Given the description of an element on the screen output the (x, y) to click on. 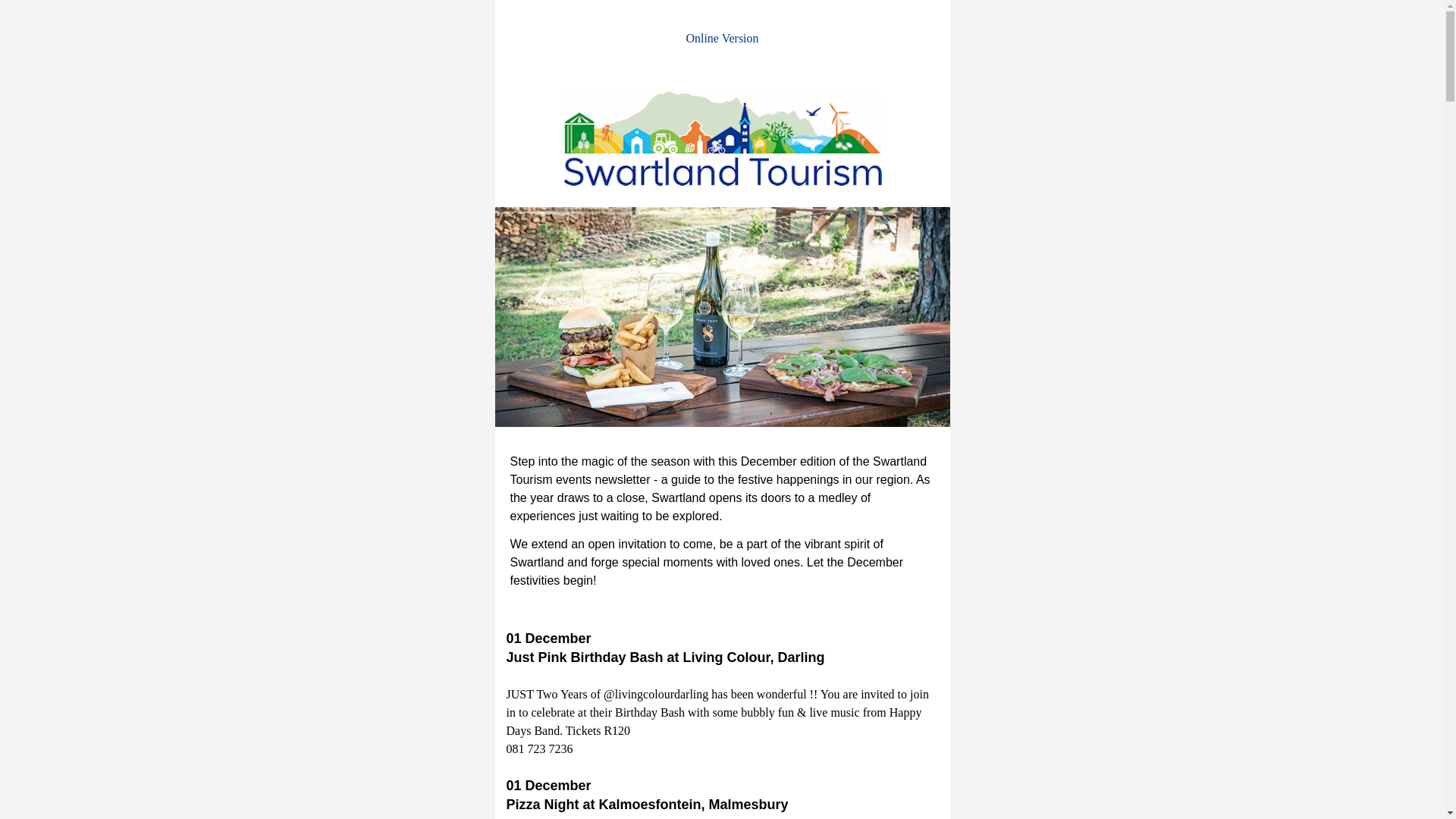
Online Version (721, 38)
